Given the description of an element on the screen output the (x, y) to click on. 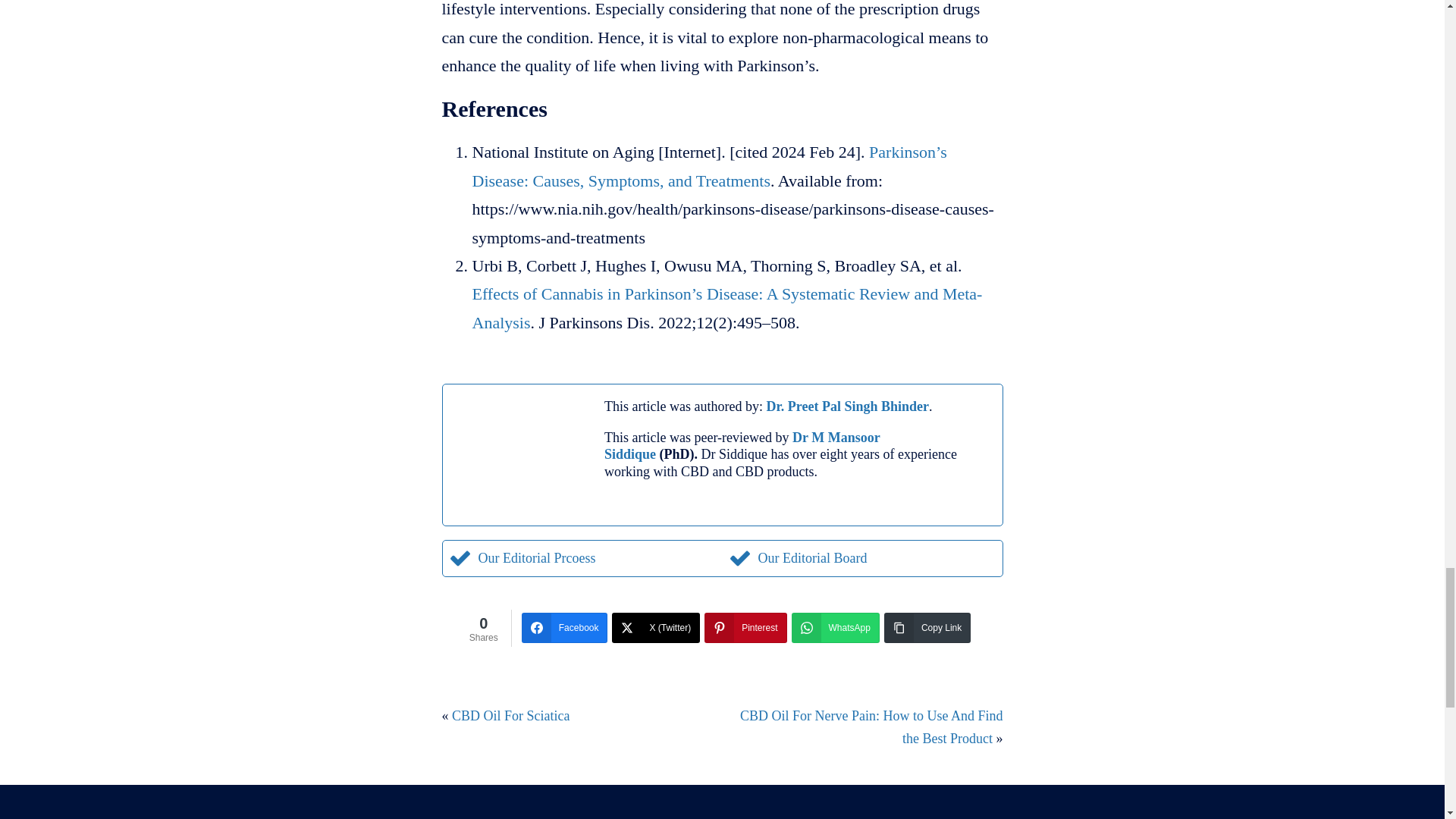
Dr M Mansoor Siddique (741, 445)
Pinterest (745, 627)
CBD Oil For Nerve Pain: How to Use And Find the Best Product (871, 727)
CBD Oil For Sciatica (510, 715)
Dr. Preet Pal Singh Bhinder (846, 406)
Our Editorial Prcoess (522, 558)
Our Editorial Board (797, 558)
WhatsApp (835, 627)
Facebook (564, 627)
Copy Link (927, 627)
